Given the description of an element on the screen output the (x, y) to click on. 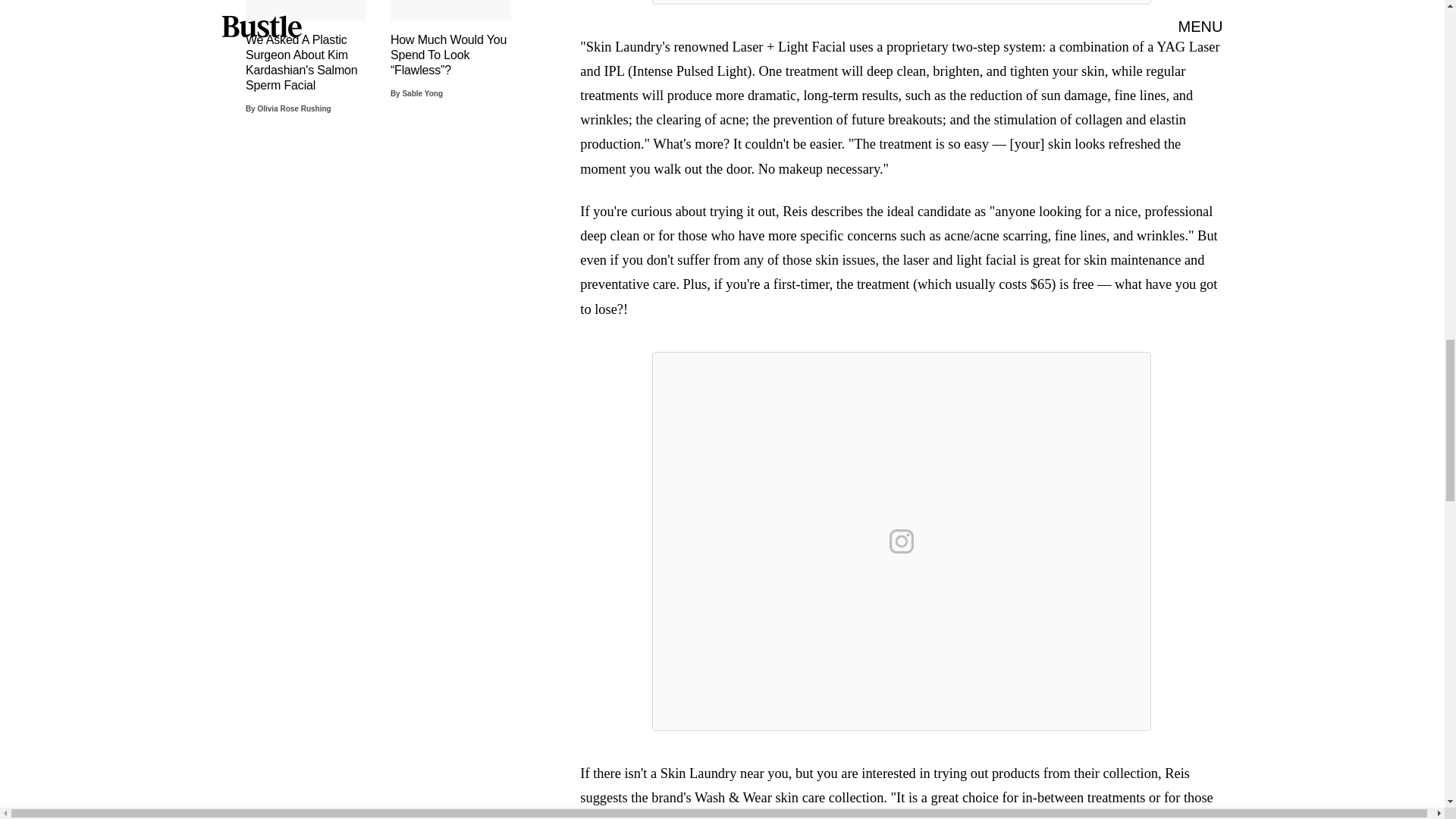
View on Instagram (901, 541)
